Given the description of an element on the screen output the (x, y) to click on. 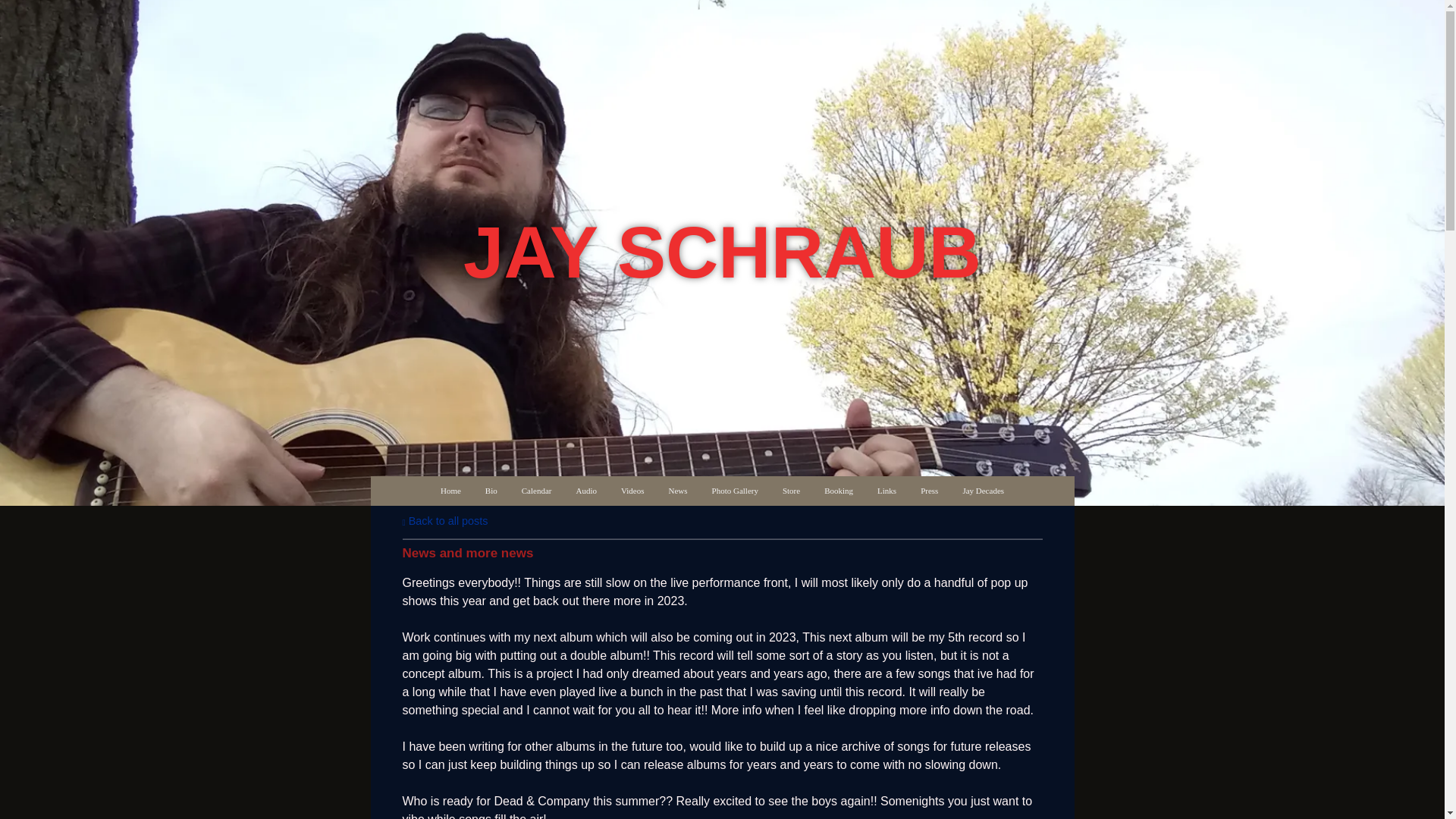
Bio (491, 490)
News (677, 490)
Videos (632, 490)
JAY SCHRAUB (722, 271)
Audio (586, 490)
Photo Gallery (735, 490)
Press (929, 490)
Back to all posts (444, 521)
Booking (838, 490)
Links (886, 490)
Store (791, 490)
Home (450, 490)
Jay Decades (982, 490)
Calendar (536, 490)
